Given the description of an element on the screen output the (x, y) to click on. 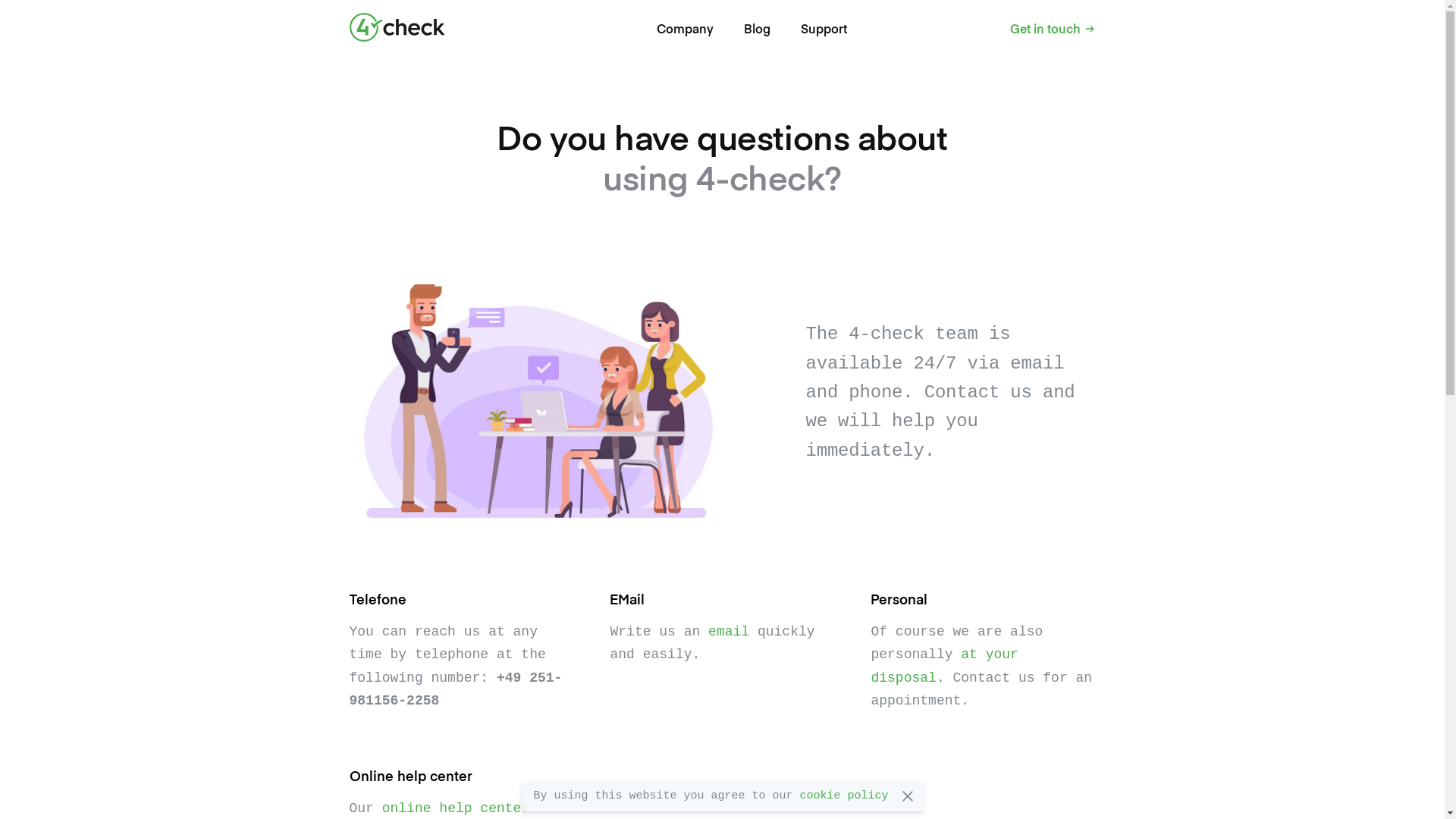
Okay Element type: text (907, 796)
Support Element type: text (823, 30)
online help center Element type: text (455, 807)
at your disposal. Element type: text (943, 665)
cookie policy Element type: text (844, 795)
Blog Element type: text (756, 30)
email Element type: text (728, 631)
Get in touch Element type: text (1052, 30)
Company Element type: text (684, 30)
